Given the description of an element on the screen output the (x, y) to click on. 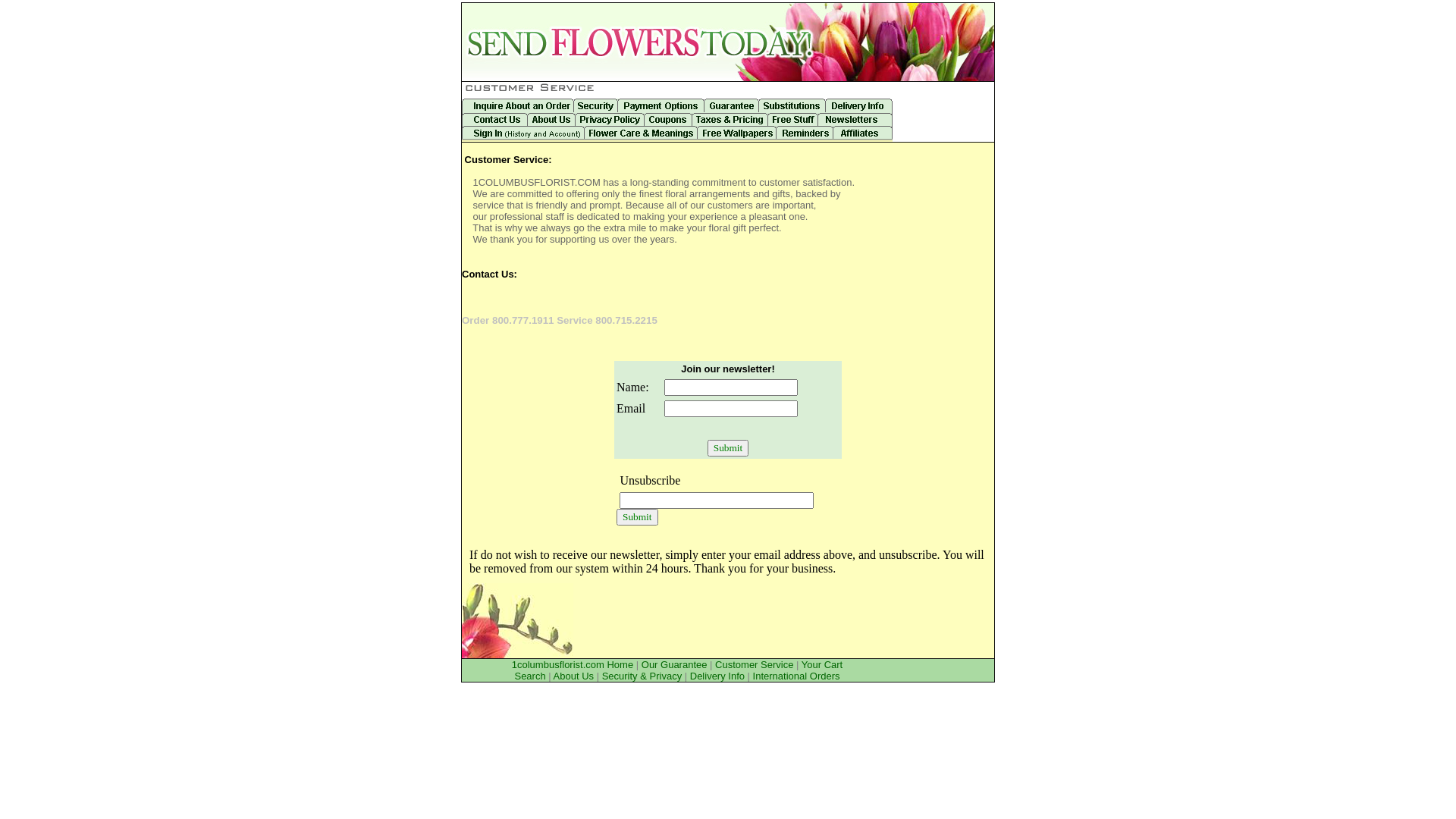
Your Cart Element type: text (821, 664)
Submit Element type: text (728, 447)
1columbusflorist.com Home Element type: text (572, 664)
International Orders Element type: text (796, 675)
Our Guarantee Element type: text (674, 664)
Submit Element type: text (637, 516)
Security & Privacy Element type: text (641, 675)
Delivery Info Element type: text (717, 675)
Customer Service Element type: text (754, 664)
Search Element type: text (529, 675)
About Us Element type: text (573, 675)
